Given the description of an element on the screen output the (x, y) to click on. 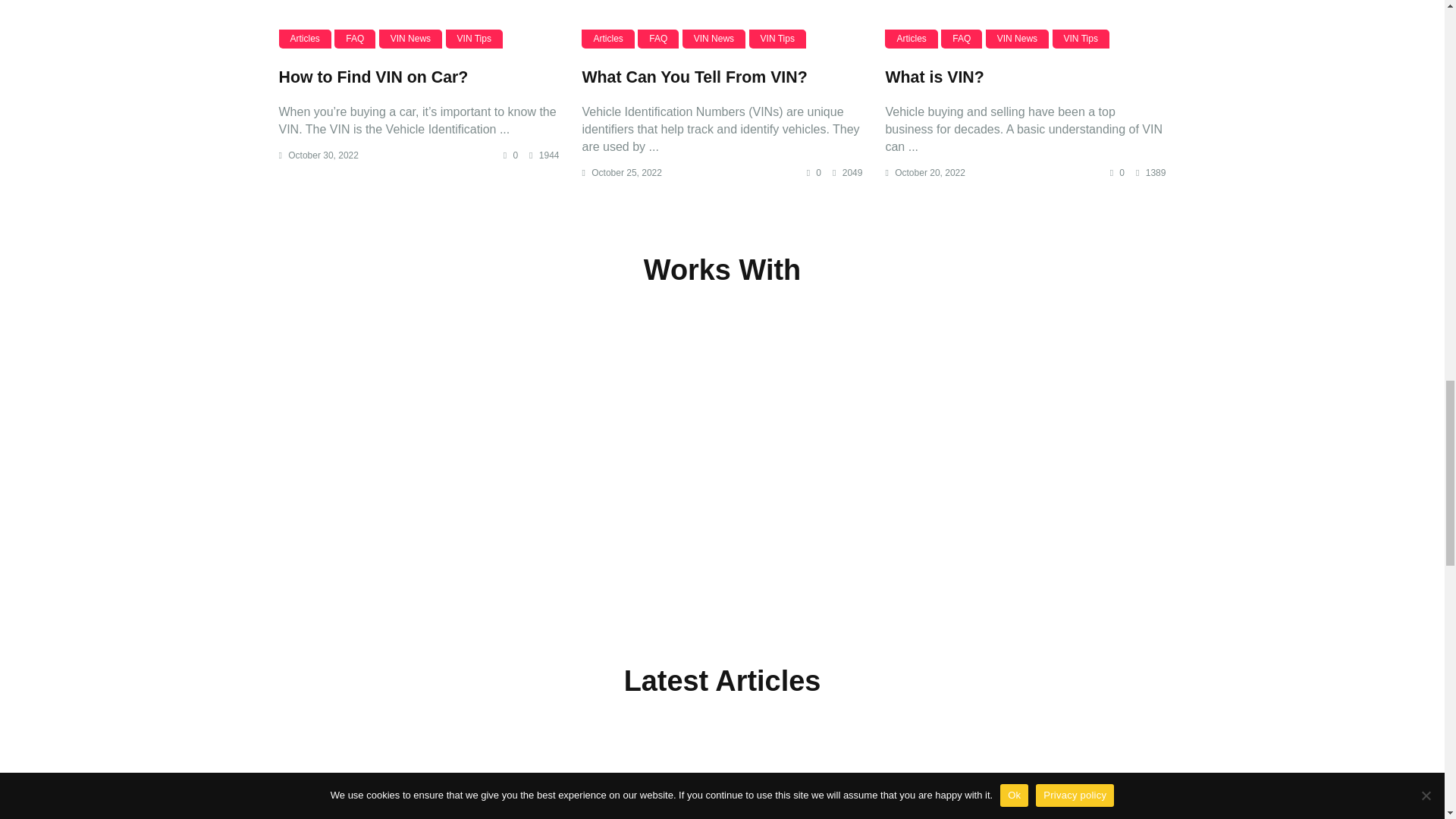
What Can You Tell From VIN? (720, 24)
How to Find VIN on Car? (419, 24)
What Can You Tell From VIN? (693, 76)
What is VIN? (1025, 24)
How to Find VIN on Car? (373, 76)
